Given the description of an element on the screen output the (x, y) to click on. 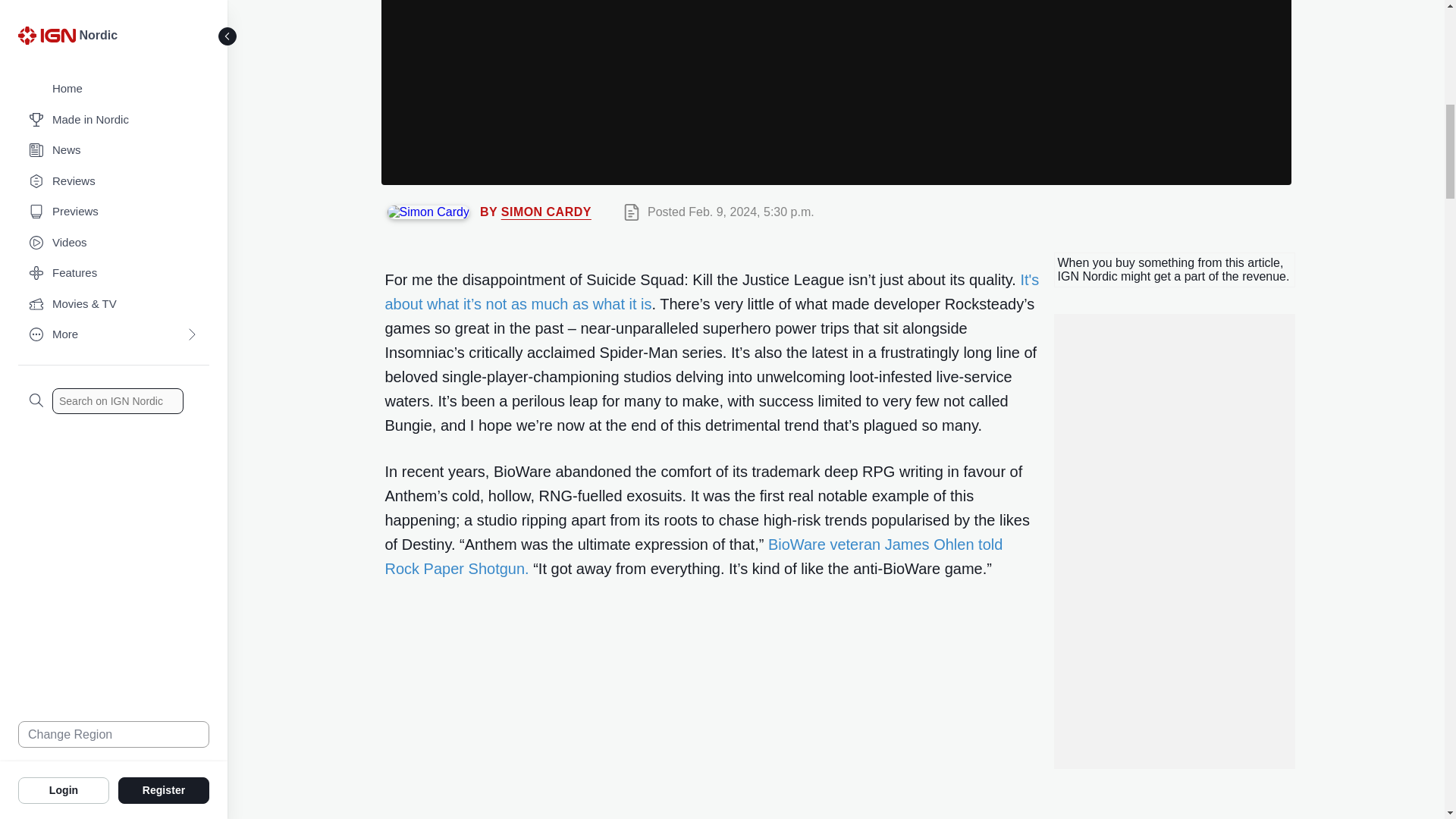
SIMON CARDY (545, 211)
